Given the description of an element on the screen output the (x, y) to click on. 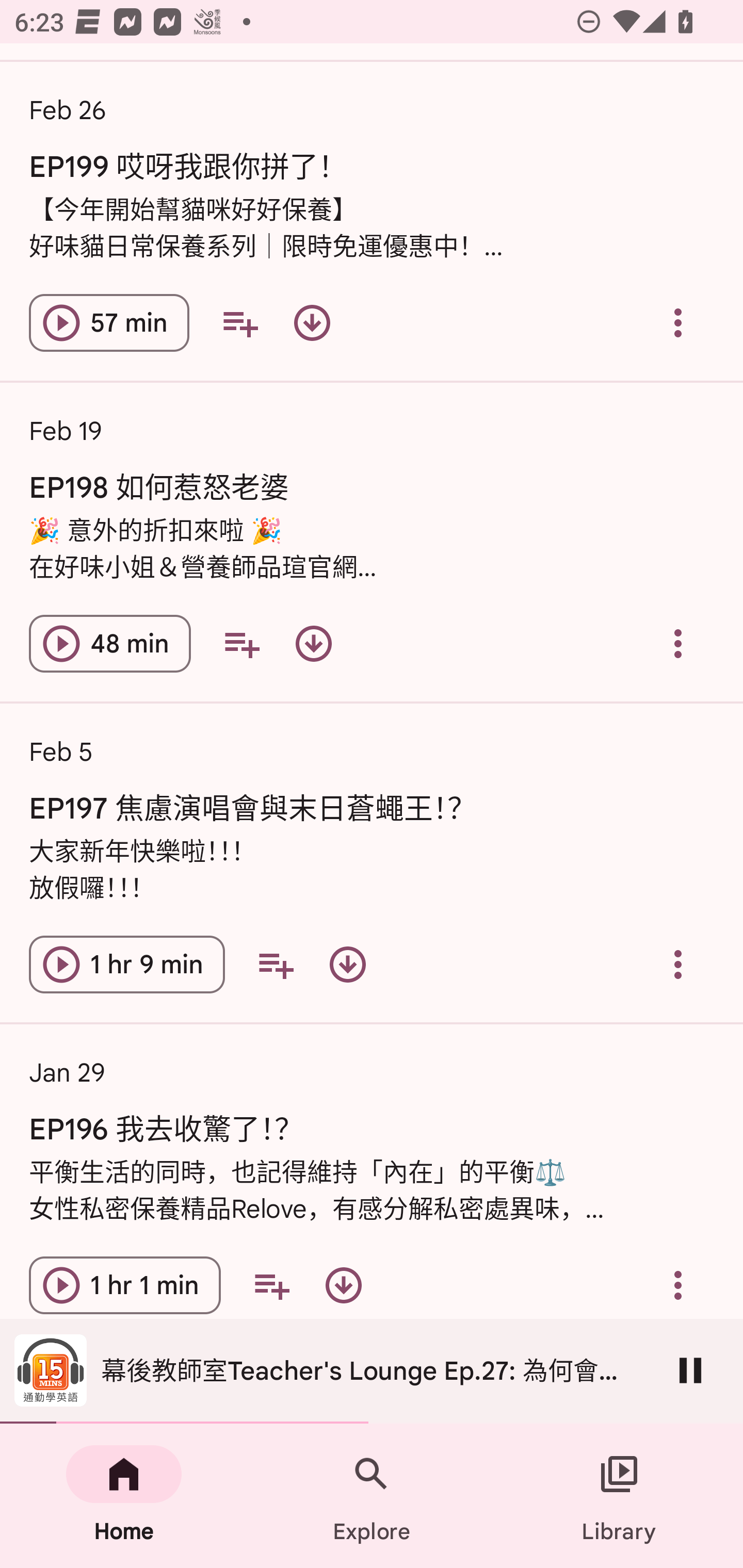
Play episode EP199 哎呀我跟你拼了！ 57 min (108, 322)
Add to your queue (239, 322)
Download episode (312, 322)
Overflow menu (677, 322)
Play episode EP198 如何惹怒老婆 48 min (109, 643)
Add to your queue (241, 643)
Download episode (313, 643)
Overflow menu (677, 643)
Play episode EP197 焦慮演唱會與末日蒼蠅王！？ 1 hr 9 min (126, 964)
Add to your queue (275, 964)
Download episode (347, 964)
Overflow menu (677, 964)
Play episode EP196 我去收驚了！？ 1 hr 1 min (124, 1284)
Add to your queue (271, 1284)
Download episode (343, 1284)
Overflow menu (677, 1284)
Pause (690, 1370)
Explore (371, 1495)
Library (619, 1495)
